Given the description of an element on the screen output the (x, y) to click on. 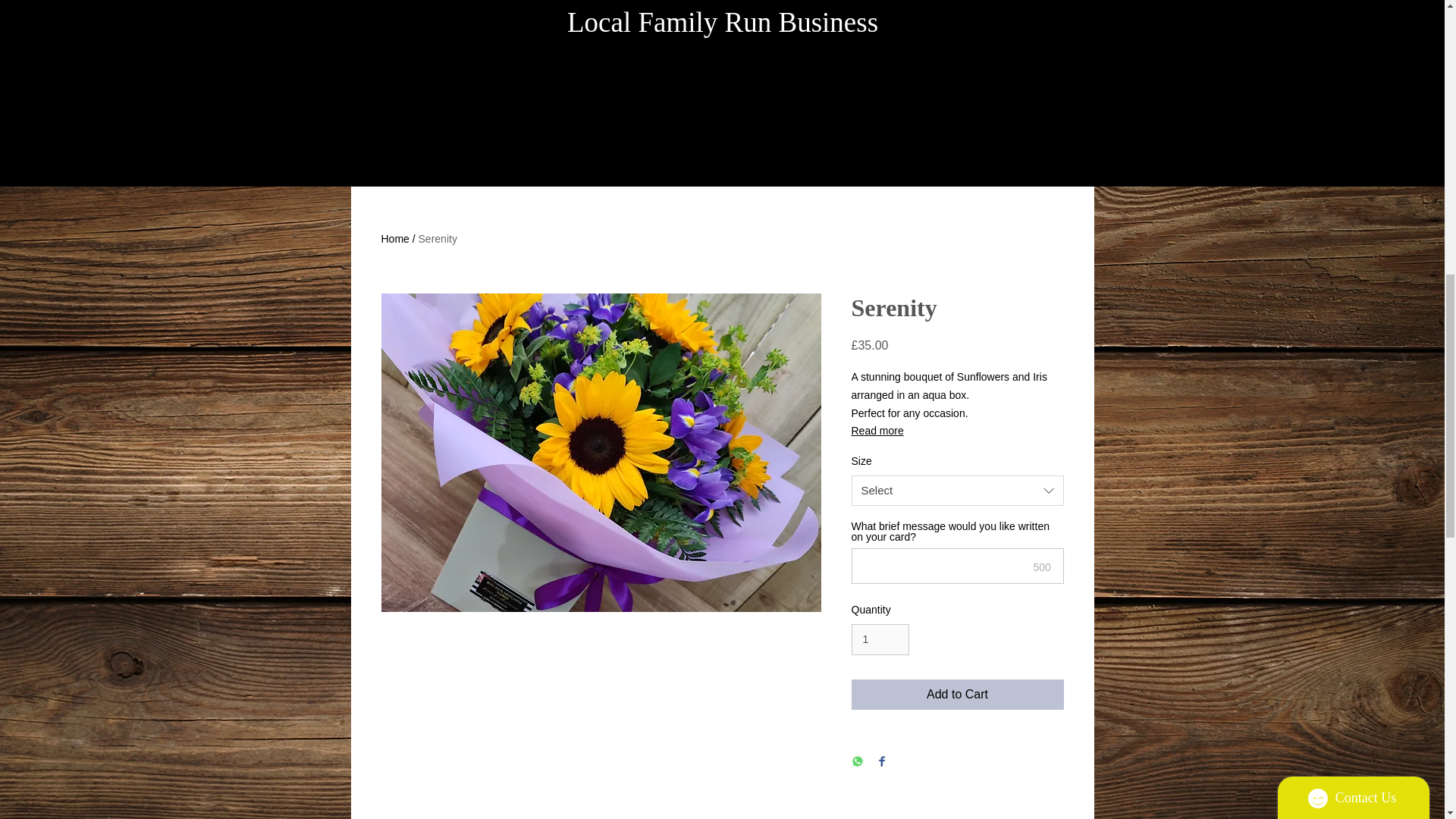
Serenity (438, 238)
Home (394, 238)
Select (956, 490)
Read more (956, 430)
Add to Cart (956, 694)
1 (879, 639)
